Given the description of an element on the screen output the (x, y) to click on. 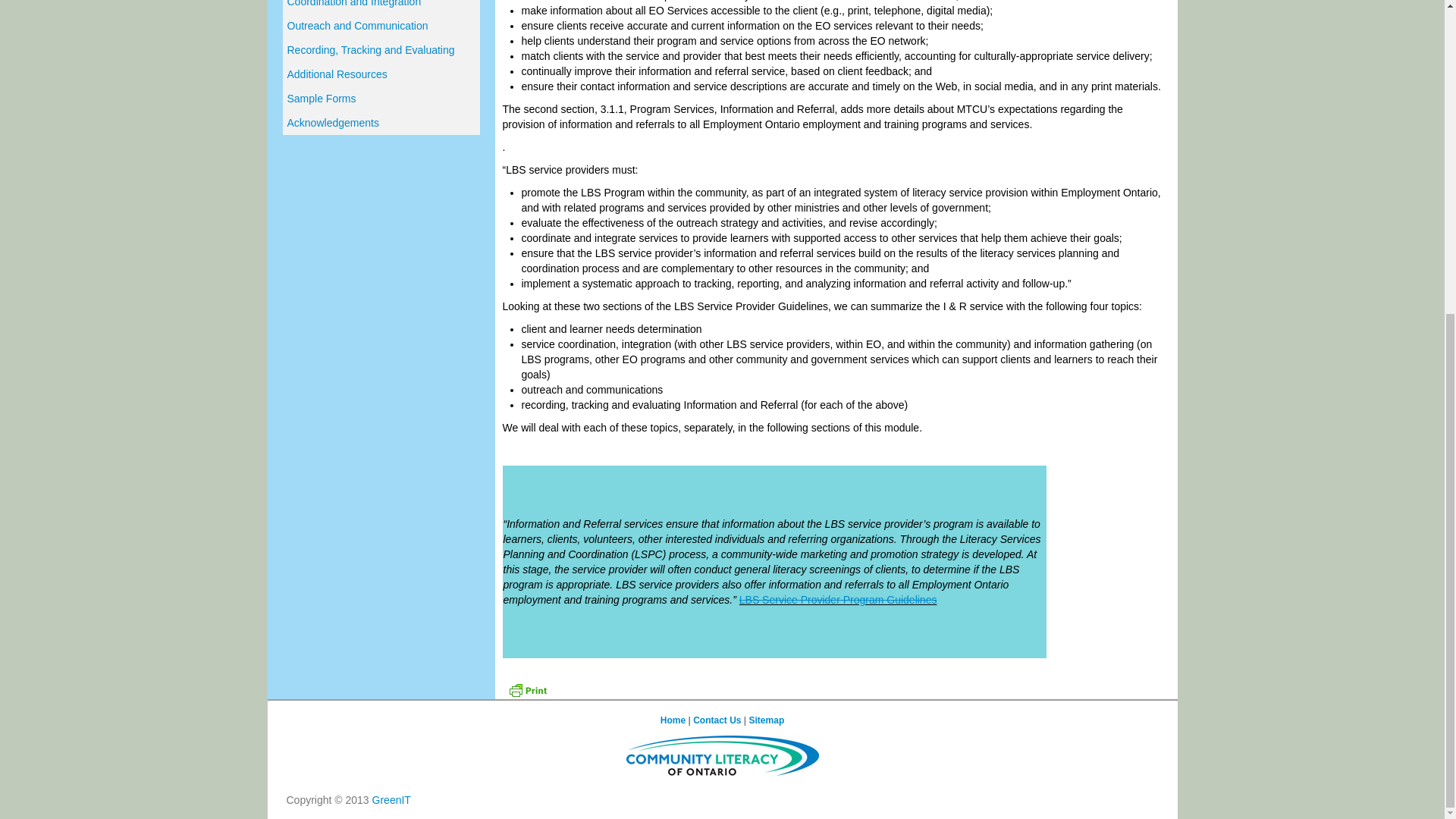
Service Information Gathering, Coordination and Integration (380, 6)
Sitemap (766, 719)
